Given the description of an element on the screen output the (x, y) to click on. 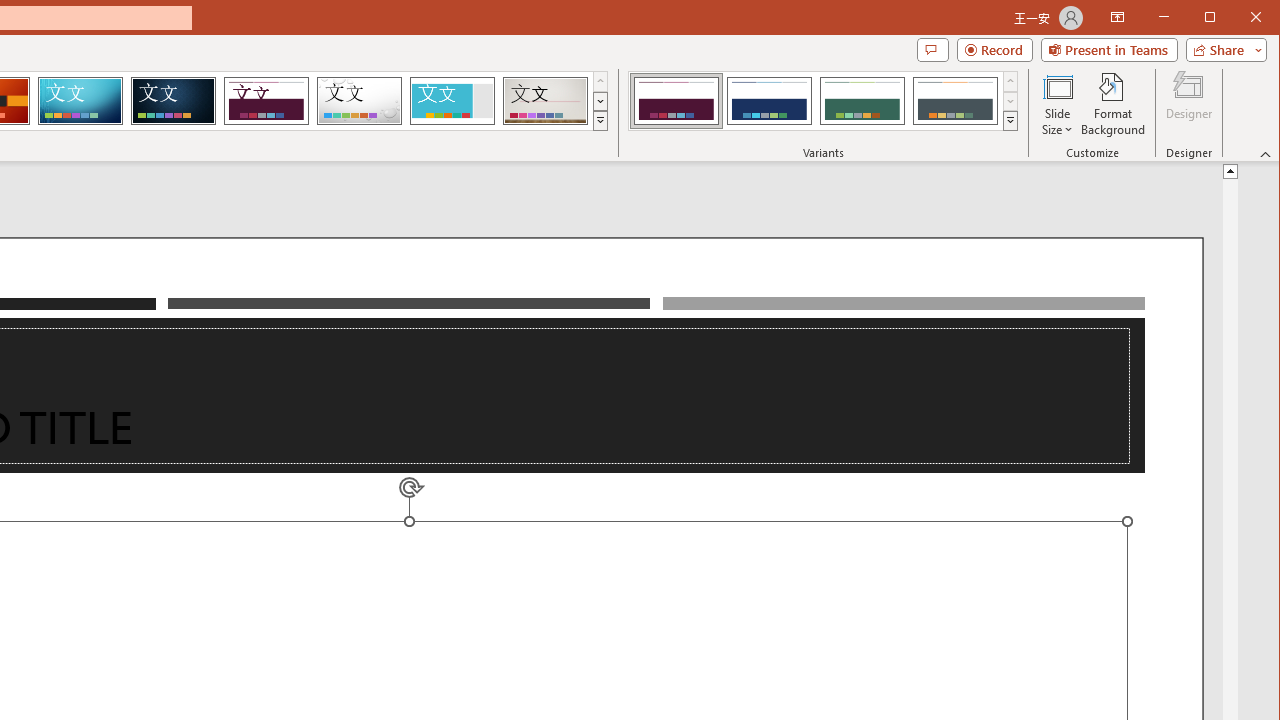
Slide Size (1057, 104)
Dividend Variant 4 (955, 100)
Format Background (1113, 104)
Themes (600, 120)
Droplet (359, 100)
Dividend Variant 1 (676, 100)
Dividend Variant 2 (769, 100)
